Given the description of an element on the screen output the (x, y) to click on. 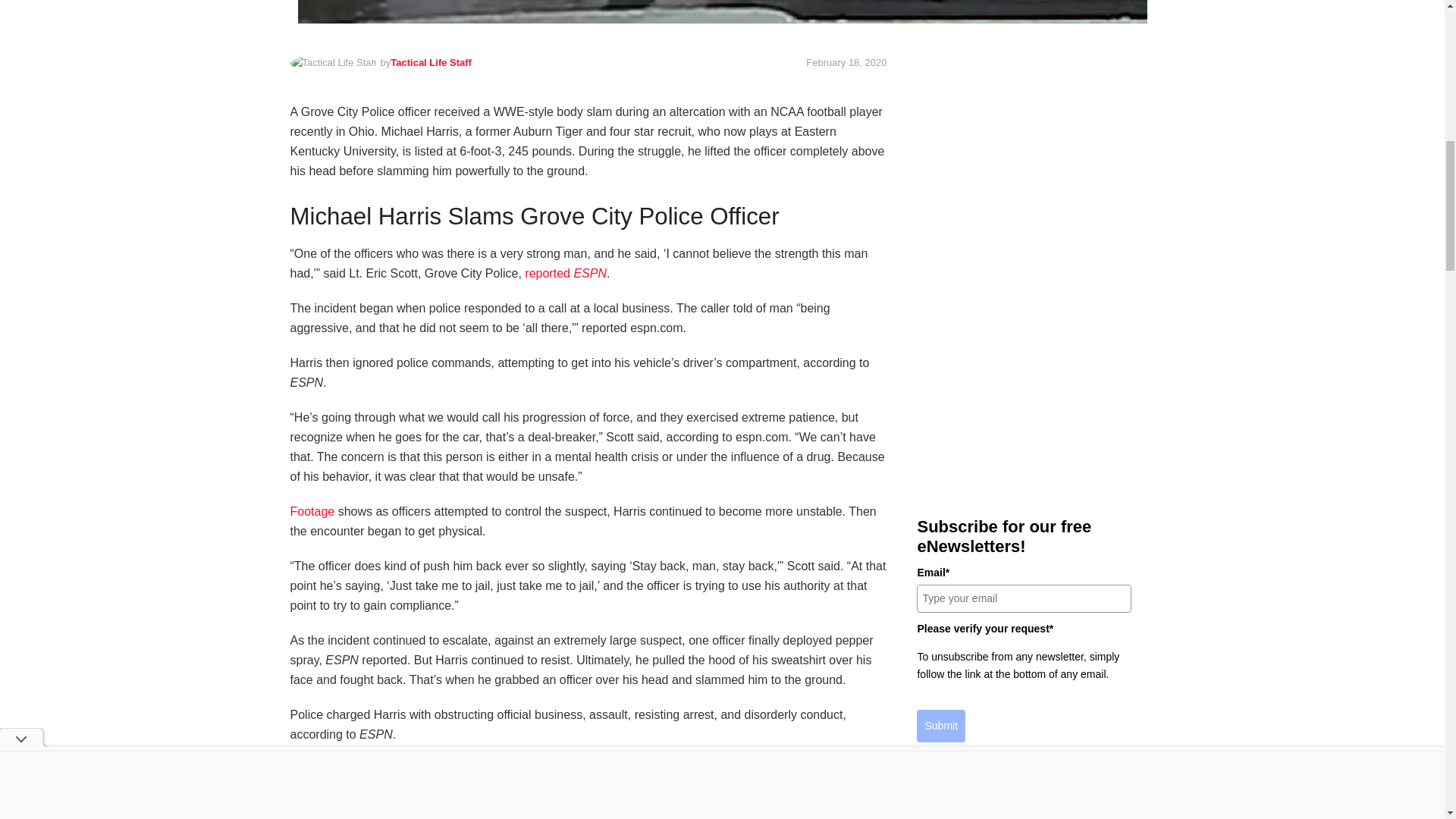
3rd party ad content (1024, 376)
3rd party ad content (1024, 156)
